Given the description of an element on the screen output the (x, y) to click on. 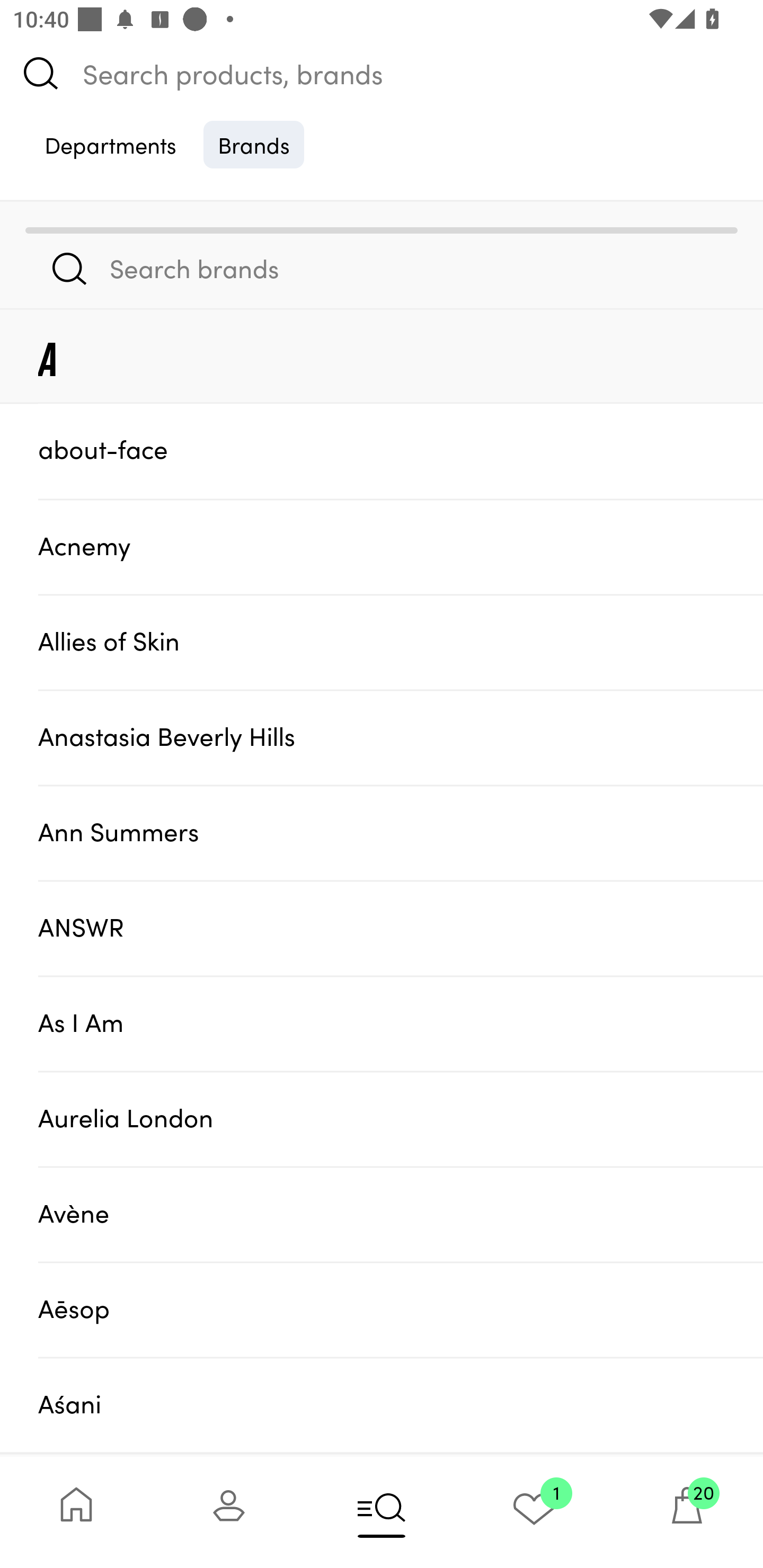
Search products, brands (381, 72)
Departments (110, 143)
Brands (253, 143)
about-face (400, 450)
Acnemy (400, 546)
Allies of Skin (400, 641)
Anastasia Beverly Hills (400, 737)
Ann Summers (400, 832)
ANSWR (400, 927)
As I Am (400, 1022)
Aurelia London (400, 1118)
Avène (400, 1214)
Aēsop (400, 1309)
Aśani (400, 1404)
1 (533, 1512)
20 (686, 1512)
